Given the description of an element on the screen output the (x, y) to click on. 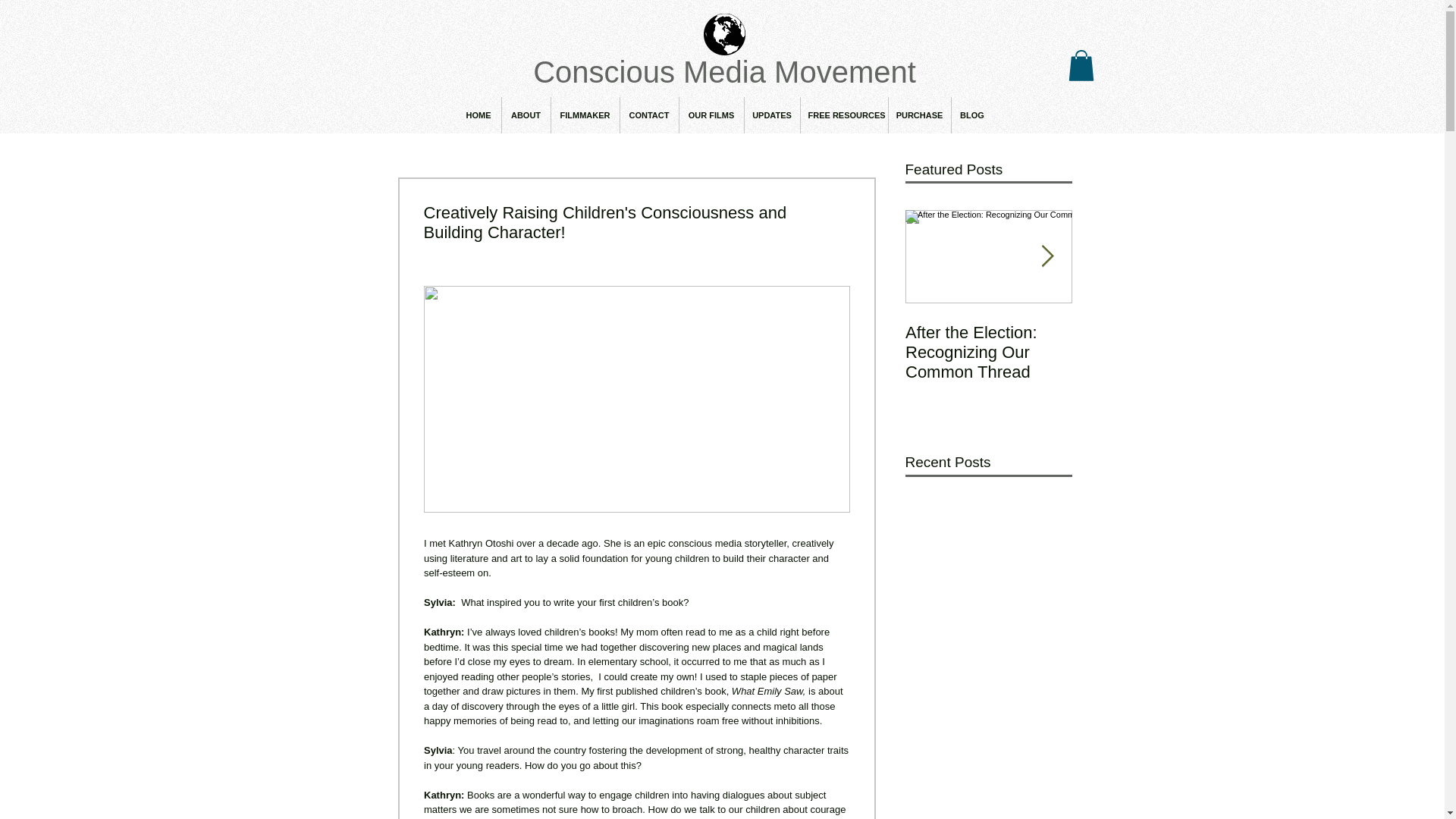
CONTACT (649, 115)
Globe soft.png (724, 34)
HOME (478, 115)
ABOUT (526, 115)
FREE RESOURCES (844, 115)
OUR FILMS (711, 115)
BLOG (971, 115)
After the Election: Recognizing Our Common Thread (988, 352)
PURCHASE (919, 115)
FILMMAKER (584, 115)
UPDATES (771, 115)
